Given the description of an element on the screen output the (x, y) to click on. 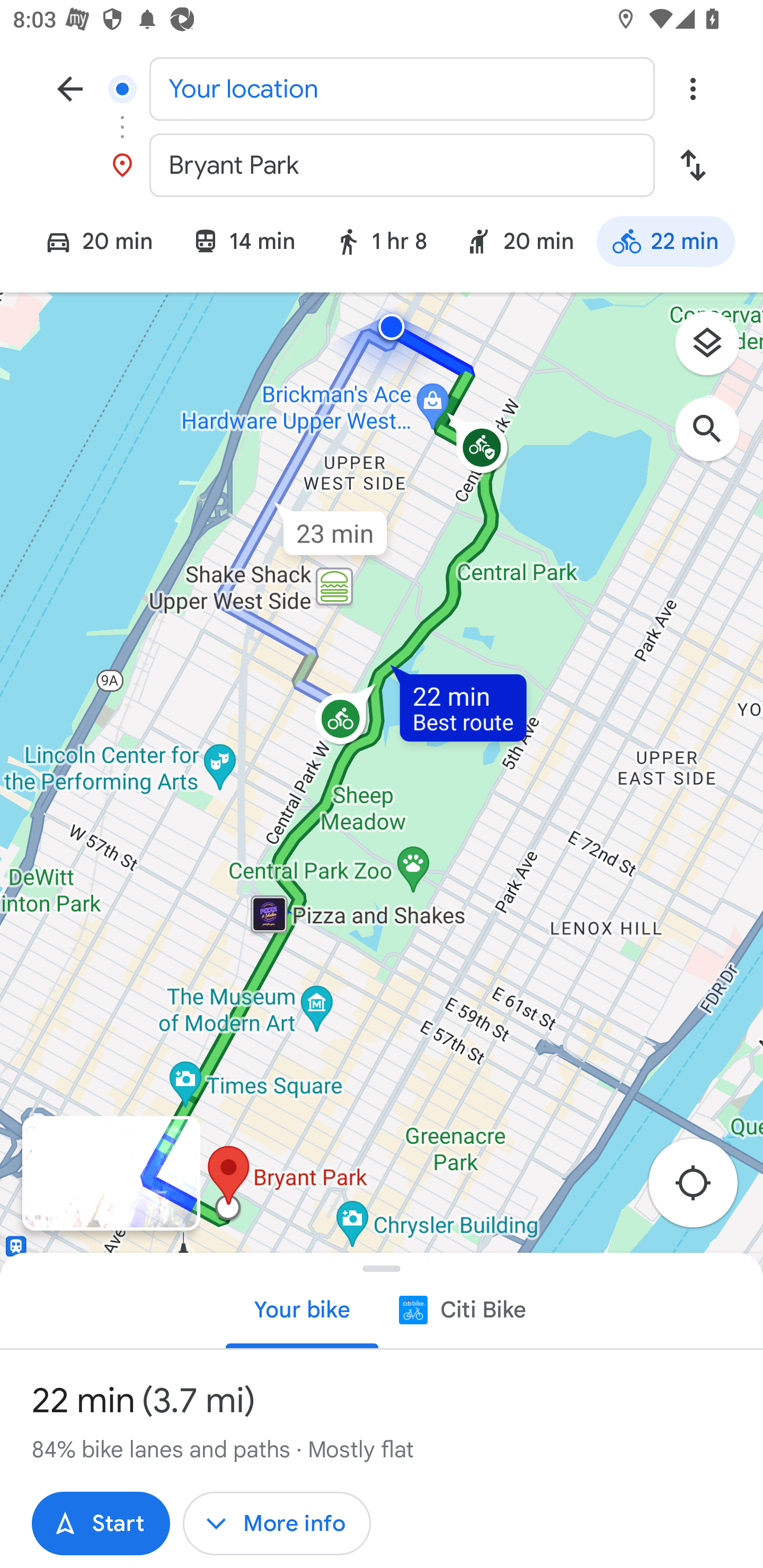
Navigate up (70, 88)
Your location Start location, Your location (381, 88)
Overflow menu (692, 88)
Bryant Park Destination, Bryant Park (381, 165)
Swap start and destination (692, 165)
Driving mode: 20 min 20 min (90, 244)
Transit mode: 14 min 14 min (243, 244)
Walking mode: 1 hr 8 1 hr 8 (380, 244)
Ride service: 20 min 20 min (519, 244)
Layers (716, 349)
Search along route (716, 438)
Open Immersive View for routes (110, 1173)
Re-center map to your location (702, 1188)
Citi Bike (460, 1309)
More info More info More info (276, 1522)
